Given the description of an element on the screen output the (x, y) to click on. 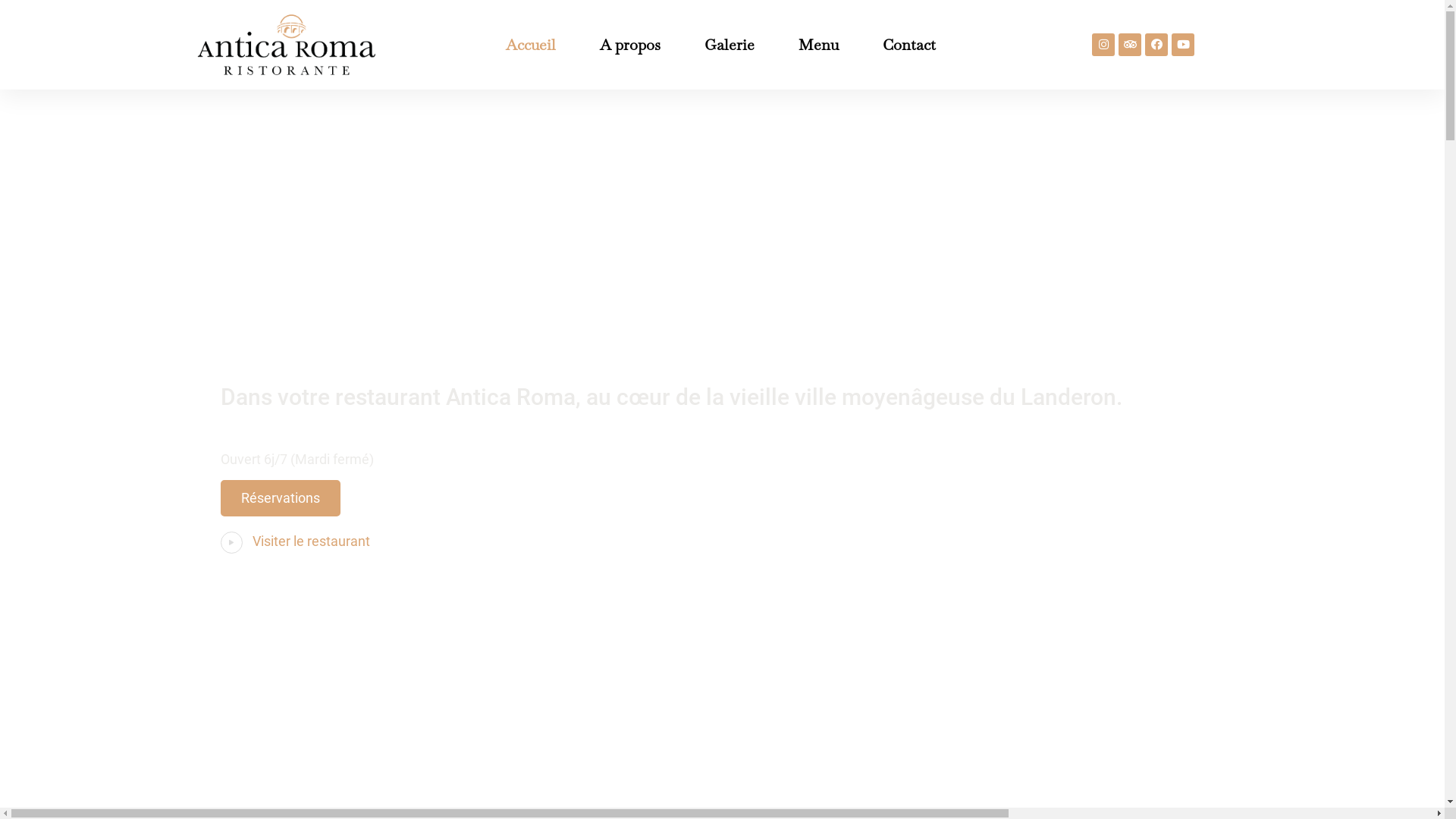
A propos Element type: text (629, 44)
Menu Element type: text (818, 44)
Visiter le restaurant Element type: text (311, 541)
Accueil Element type: text (530, 44)
Galerie Element type: text (729, 44)
Contact Element type: text (908, 44)
